Given the description of an element on the screen output the (x, y) to click on. 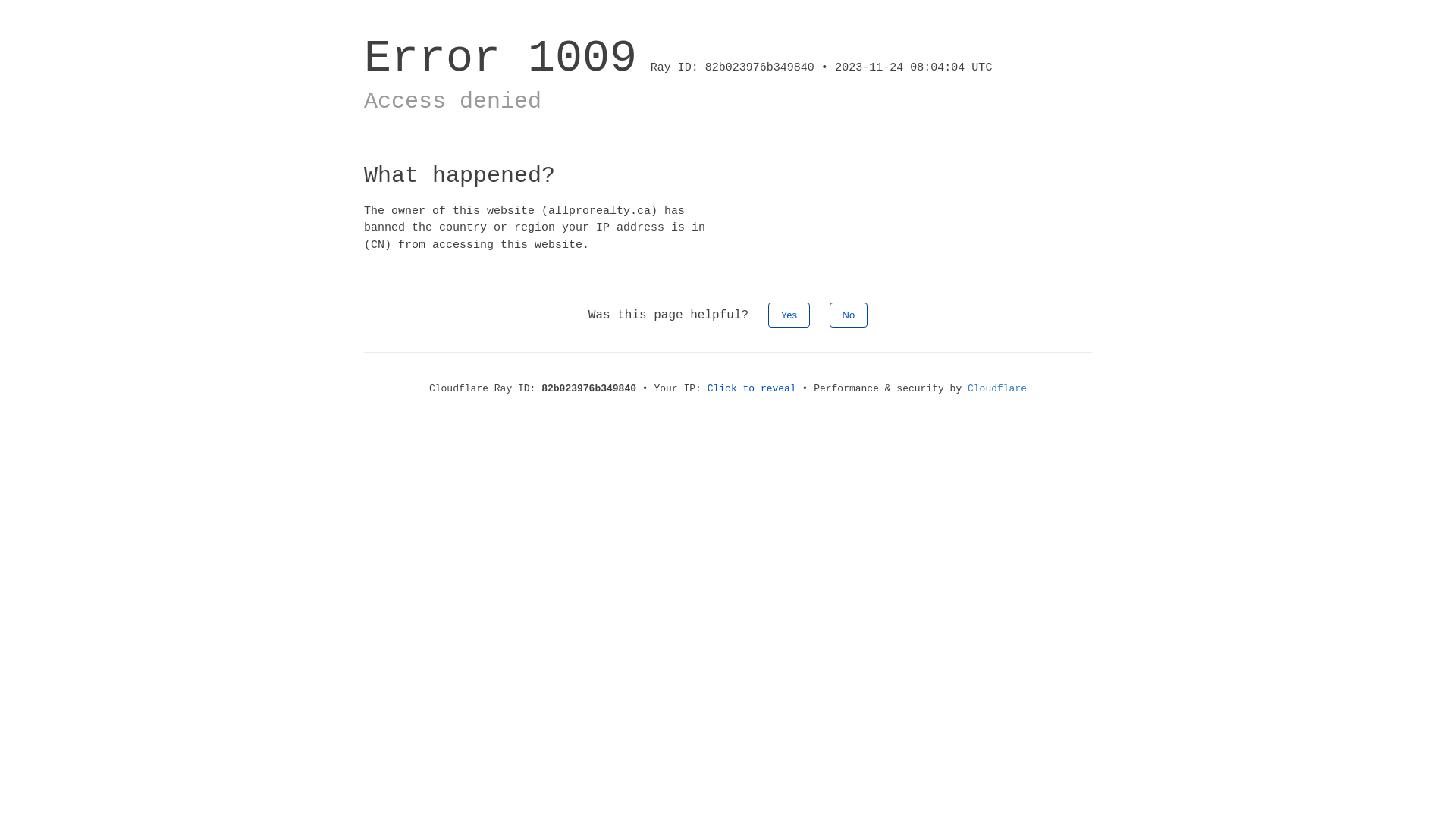
Cloudflare Element type: text (996, 388)
Yes Element type: text (788, 314)
No Element type: text (848, 314)
Click to reveal Element type: text (751, 388)
